Given the description of an element on the screen output the (x, y) to click on. 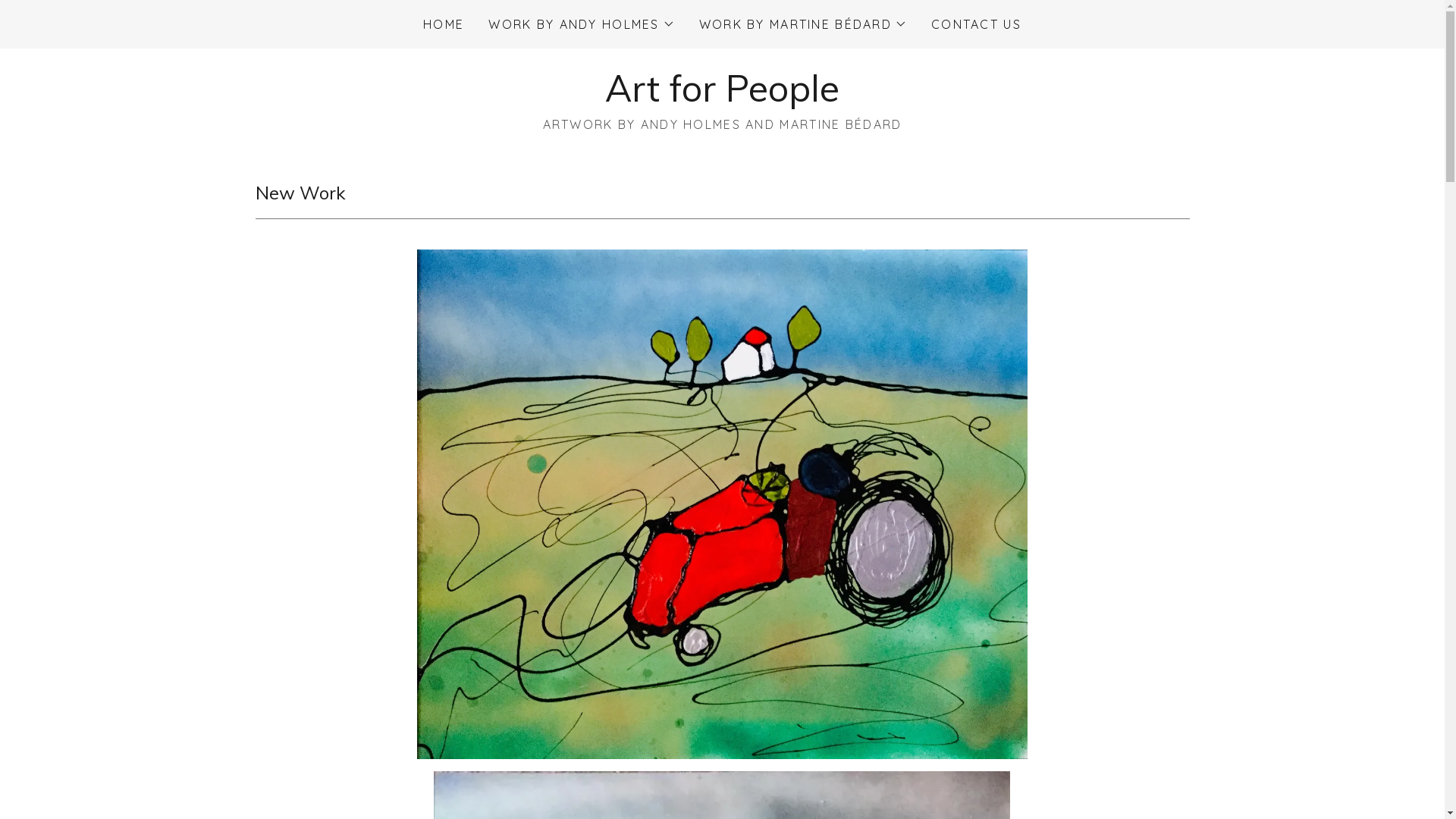
HOME Element type: text (443, 23)
CONTACT US Element type: text (976, 23)
WORK BY ANDY HOLMES Element type: text (581, 24)
Art for People Element type: text (722, 96)
